Given the description of an element on the screen output the (x, y) to click on. 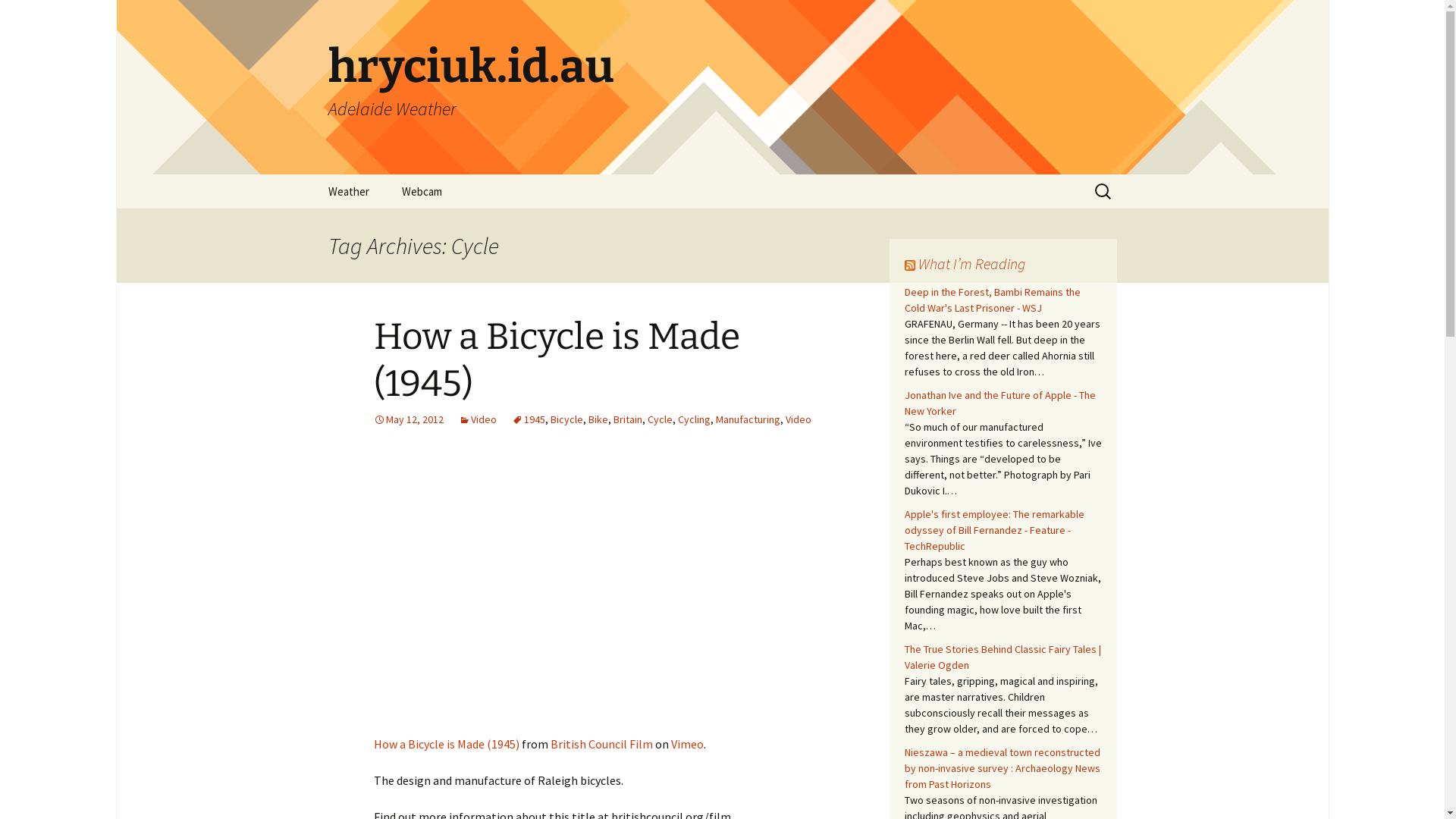
Cycling Element type: text (693, 419)
How a Bicycle is Made (1945) Element type: text (445, 743)
Bike Element type: text (598, 419)
Skip to content Element type: text (312, 173)
1945 Element type: text (527, 419)
British Council Film Element type: text (601, 743)
Manufacturing Element type: text (747, 419)
Video Element type: text (798, 419)
Vimeo Element type: text (686, 743)
Search Element type: text (18, 16)
hryciuk.id.au
Adelaide Weather Element type: text (721, 87)
Webcam Element type: text (421, 191)
Bicycle Element type: text (566, 419)
May 12, 2012 Element type: text (407, 419)
Jonathan Ive and the Future of Apple - The New Yorker Element type: text (999, 402)
Weather Element type: text (347, 191)
The True Stories Behind Classic Fairy Tales | Valerie Ogden Element type: text (1001, 656)
Britain Element type: text (626, 419)
Cycle Element type: text (659, 419)
Video Element type: text (476, 419)
How a Bicycle is Made (1945) Element type: text (556, 359)
